Given the description of an element on the screen output the (x, y) to click on. 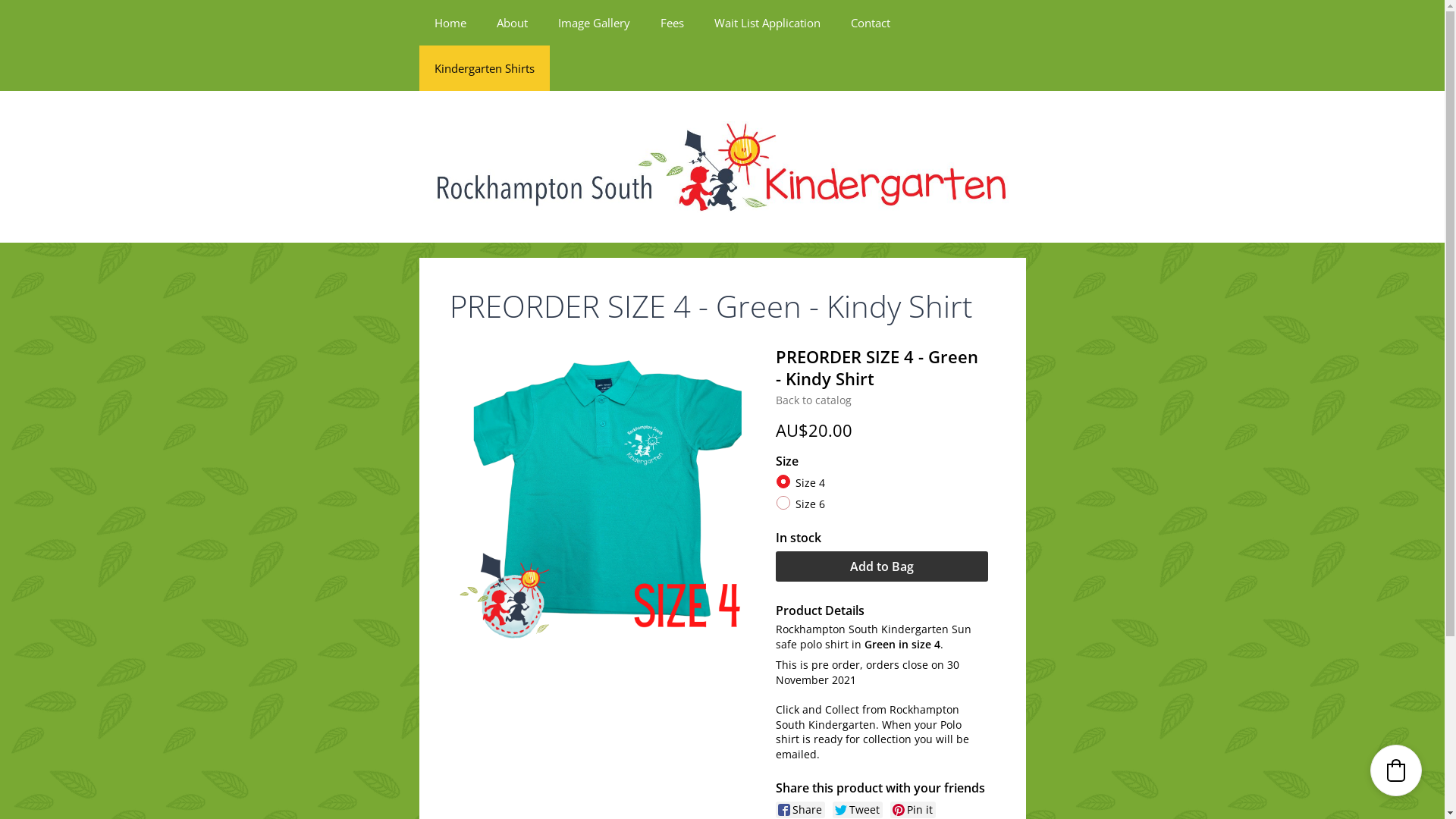
Add to Bag Element type: text (881, 566)
Kindergarten Shirts Element type: text (483, 68)
Contact Element type: text (870, 22)
Fees Element type: text (671, 22)
Share Element type: text (800, 809)
PREORDER SIZE 4 - Green - Kindy Shirt Element type: hover (606, 495)
ROCKHAMPTON SOUTH KINDERGARTEN Element type: hover (721, 166)
Wait List Application Element type: text (767, 22)
ROCKHAMPTON SOUTH KINDERGARTEN Element type: hover (721, 165)
Image Gallery Element type: text (593, 22)
About Element type: text (511, 22)
Pin it Element type: text (912, 809)
Back to catalog Element type: text (813, 399)
Home Element type: text (449, 22)
Tweet Element type: text (857, 809)
